Given the description of an element on the screen output the (x, y) to click on. 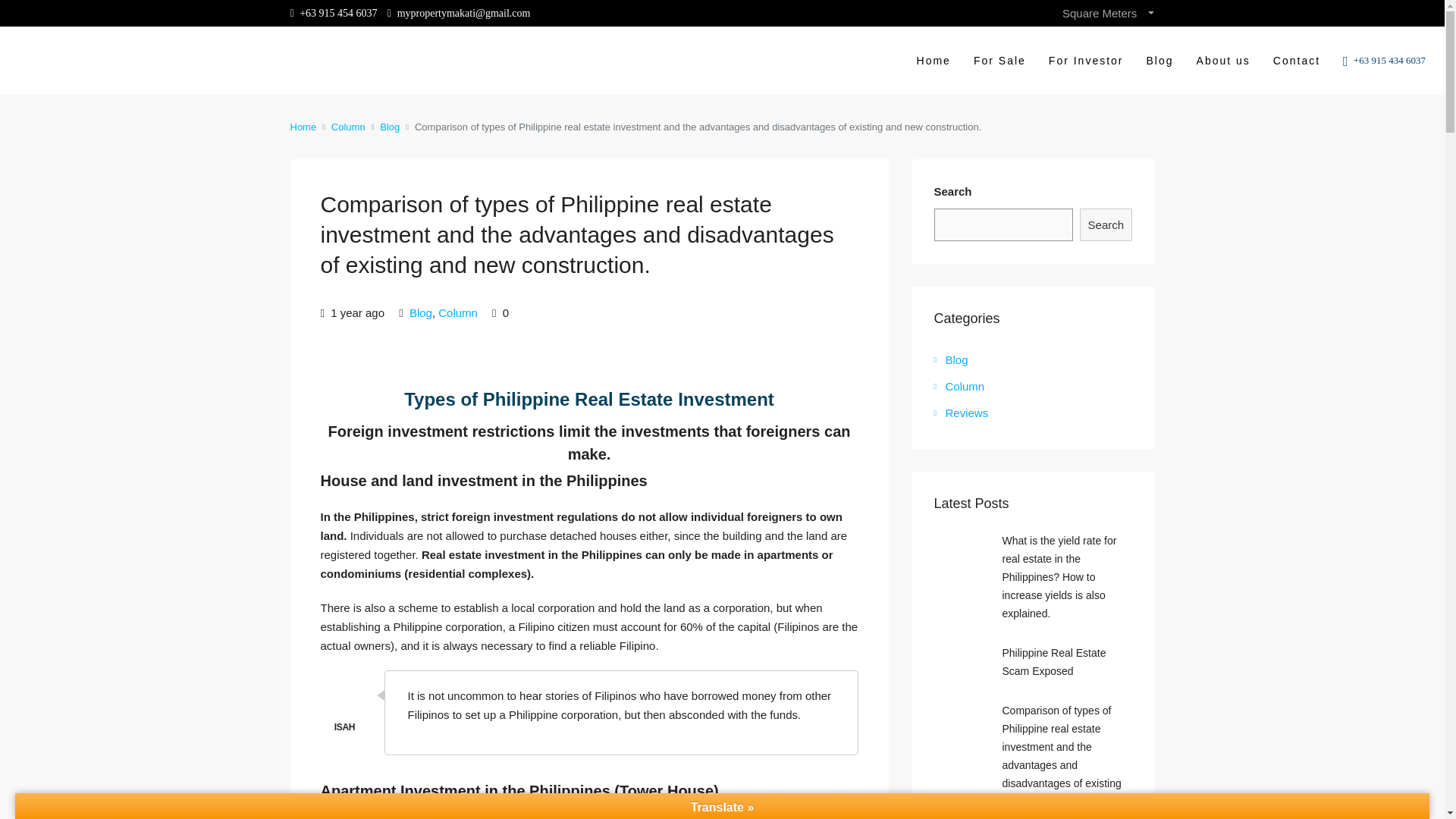
Blog (389, 126)
Column (457, 312)
Column (348, 126)
About us (1223, 60)
For Sale (999, 60)
Contact (1297, 60)
Home (302, 126)
For Investor (1085, 60)
Square Meters (1107, 13)
Blog (420, 312)
